Given the description of an element on the screen output the (x, y) to click on. 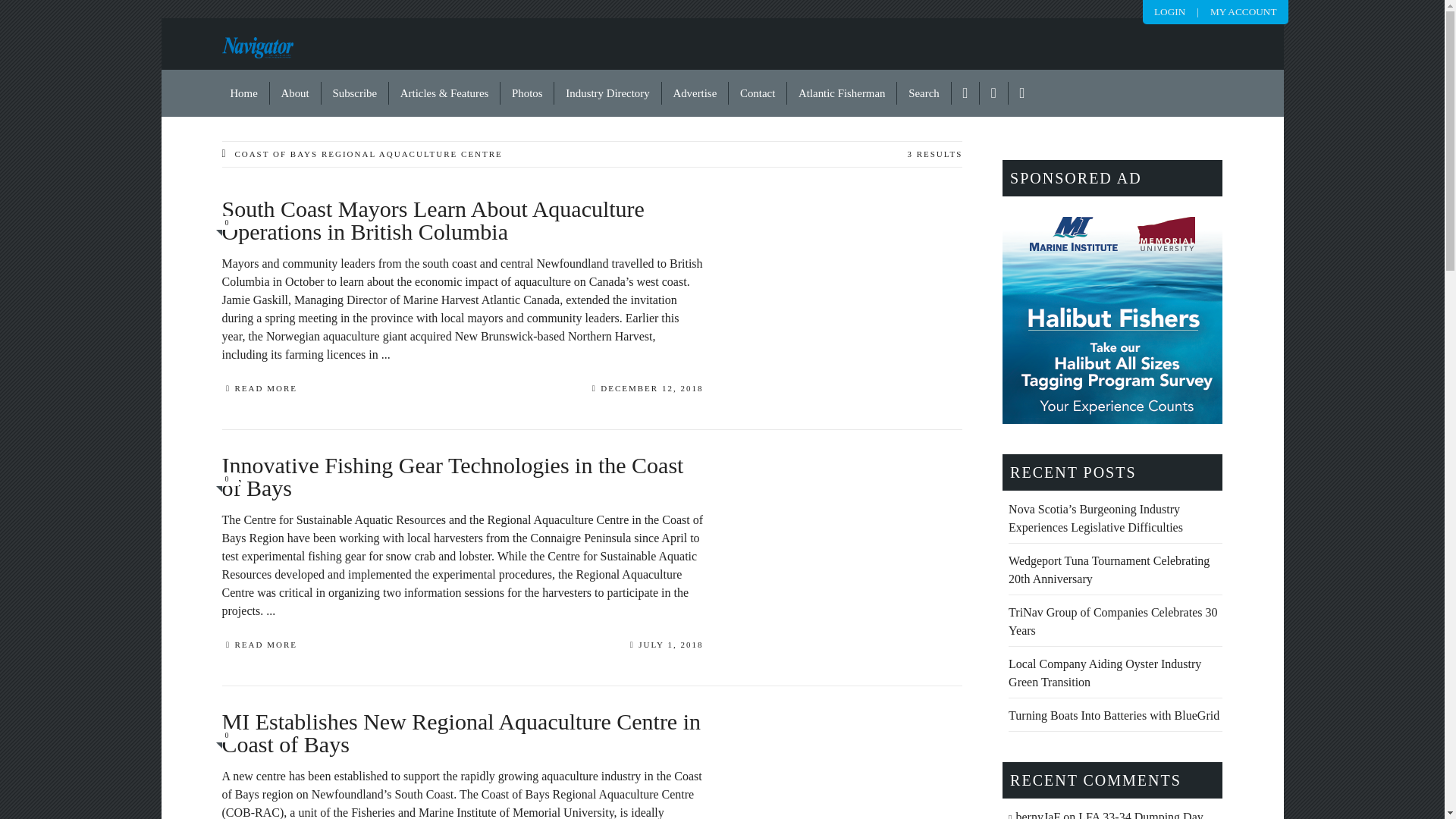
Search (923, 92)
Twitter (994, 92)
LOGIN (1169, 11)
READ MORE (259, 646)
Contact (758, 92)
Home (243, 92)
Search (923, 92)
Photos (527, 92)
Home (243, 92)
